Given the description of an element on the screen output the (x, y) to click on. 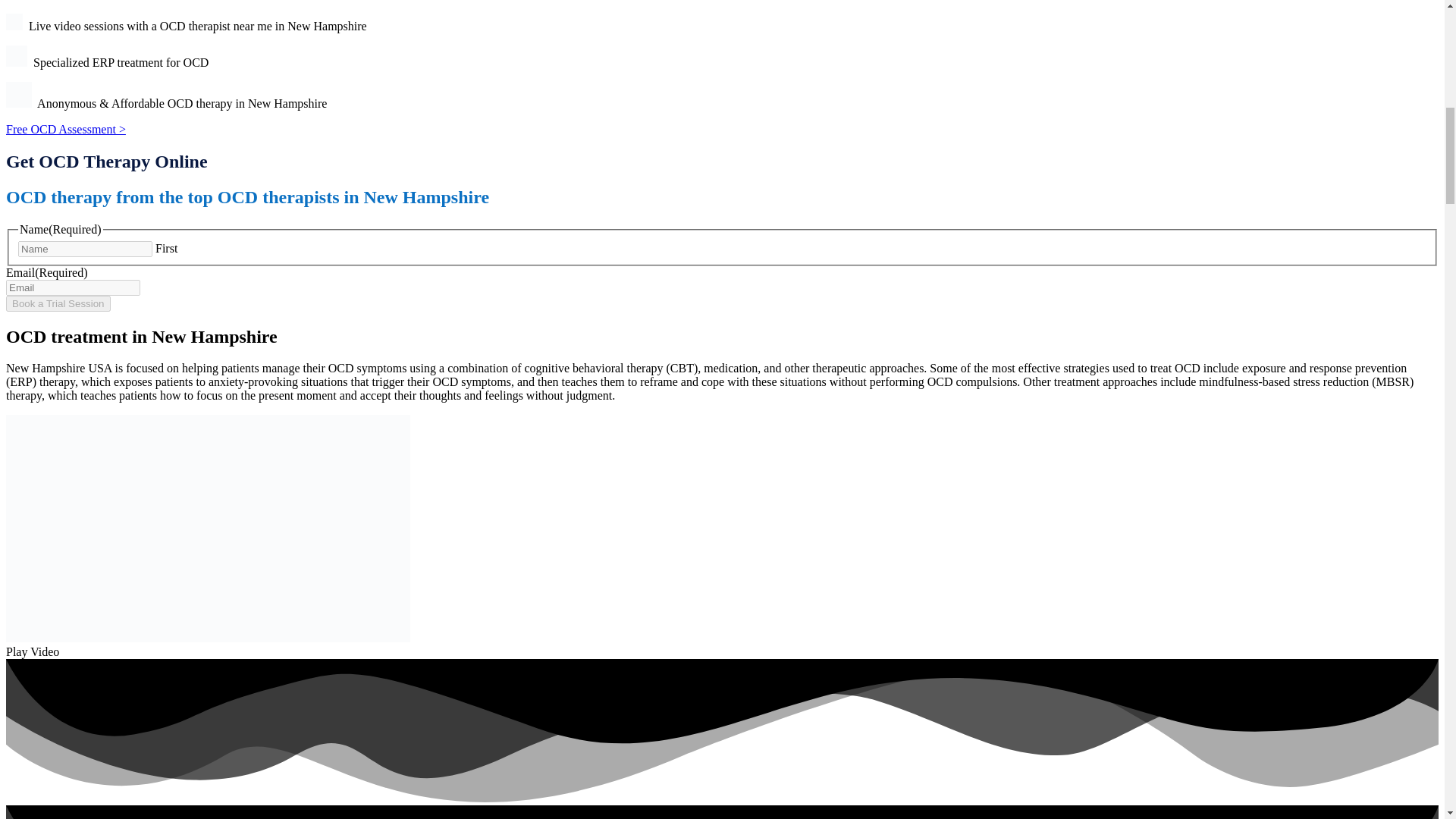
Book a Trial Session (57, 303)
